Given the description of an element on the screen output the (x, y) to click on. 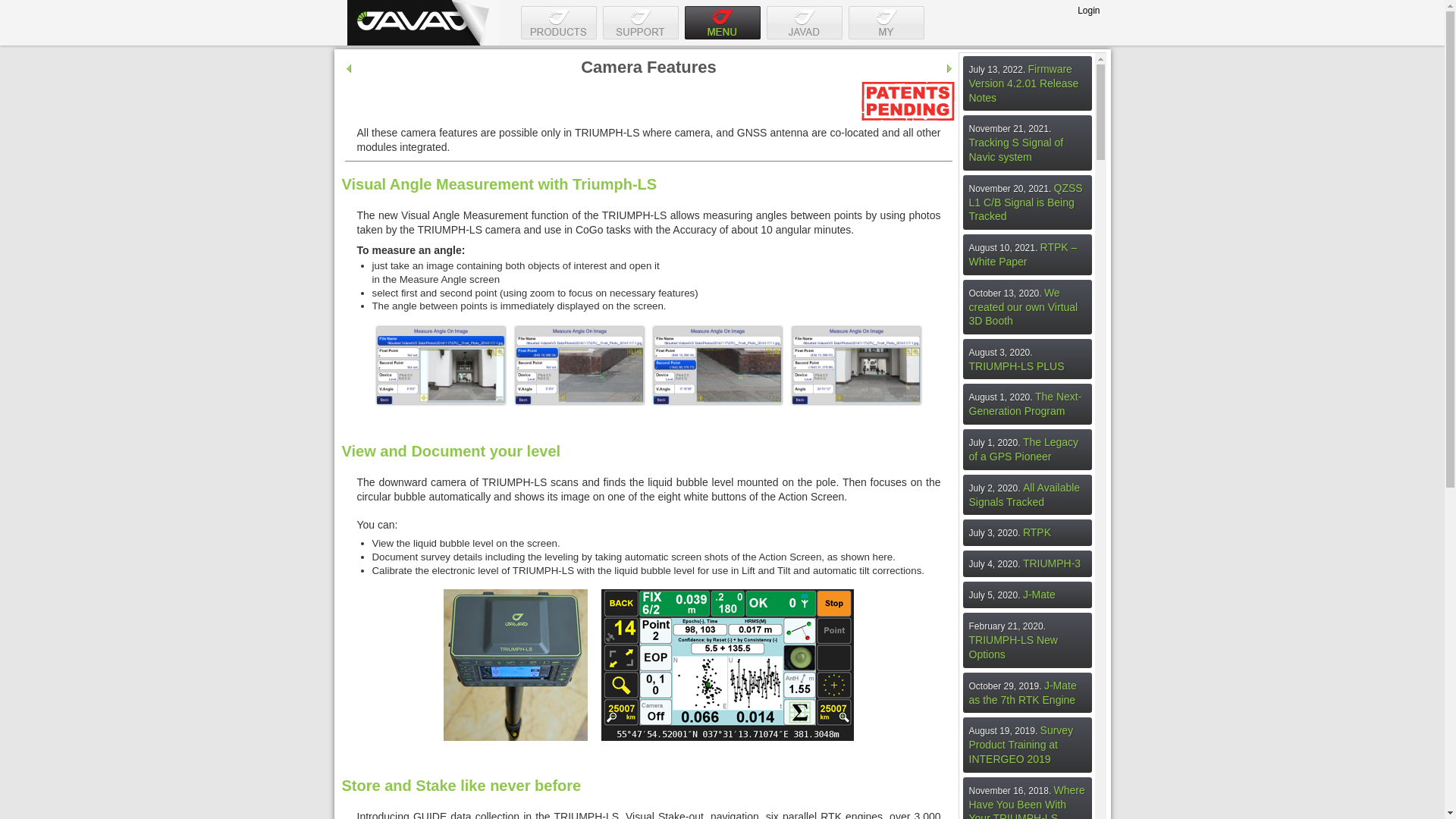
Login (1088, 9)
JAVAD GNSS (423, 22)
